Given the description of an element on the screen output the (x, y) to click on. 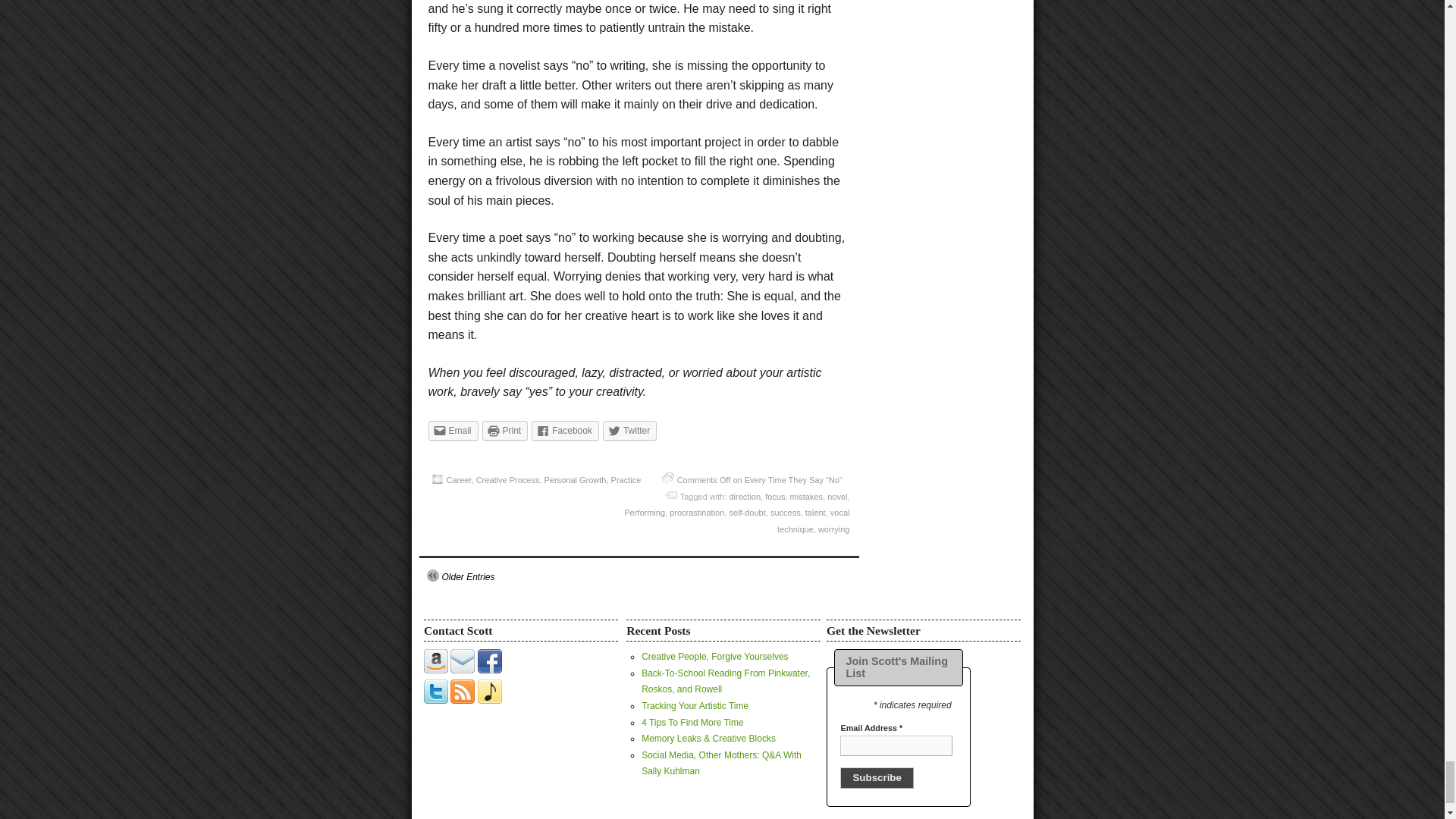
Subscribe (876, 777)
